Given the description of an element on the screen output the (x, y) to click on. 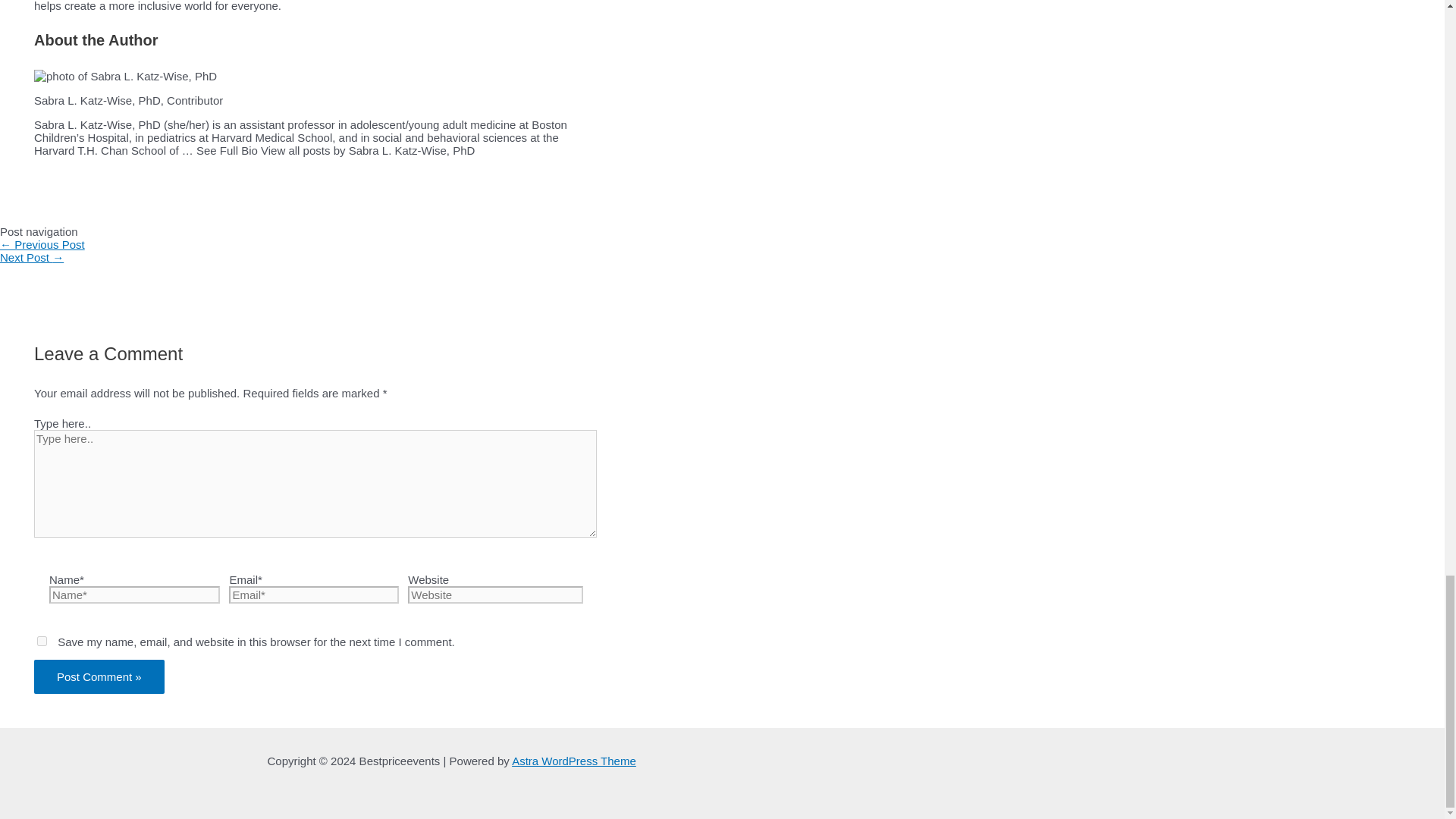
yes (41, 641)
Astra WordPress Theme (574, 760)
